Given the description of an element on the screen output the (x, y) to click on. 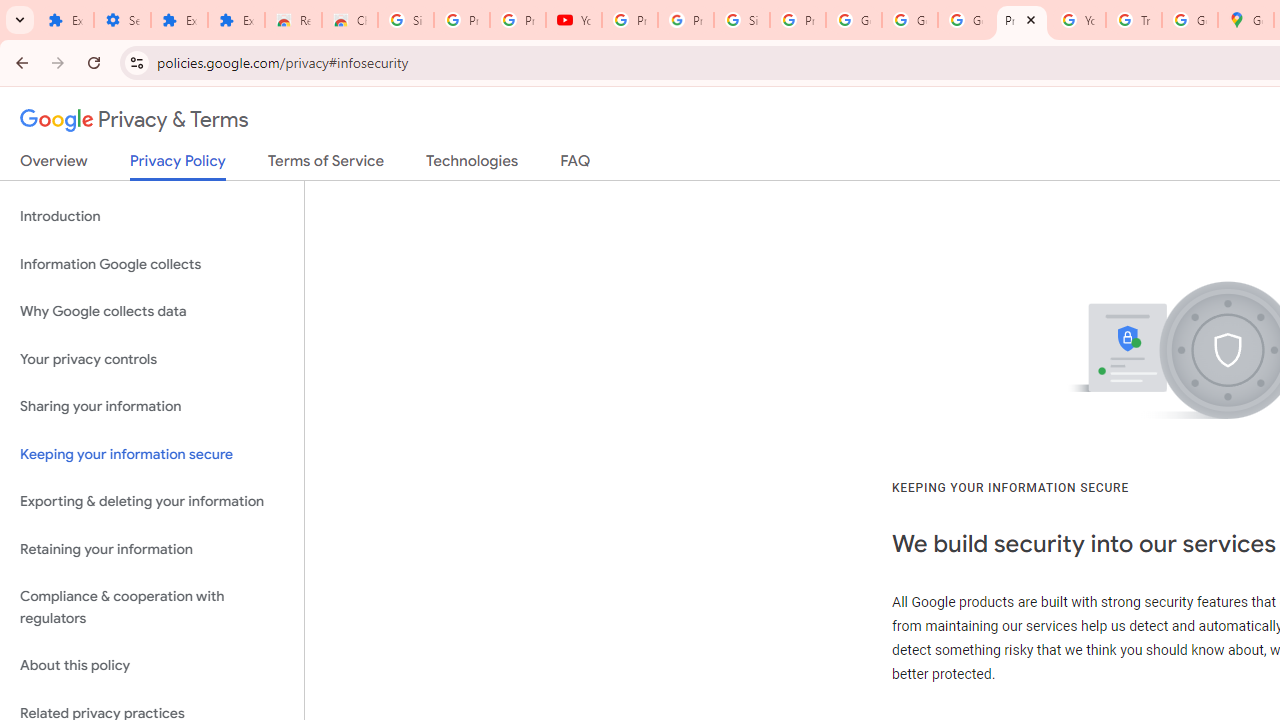
YouTube (573, 20)
Your privacy controls (152, 358)
Google Account (853, 20)
Information Google collects (152, 263)
Why Google collects data (152, 312)
Retaining your information (152, 548)
Extensions (65, 20)
